Given the description of an element on the screen output the (x, y) to click on. 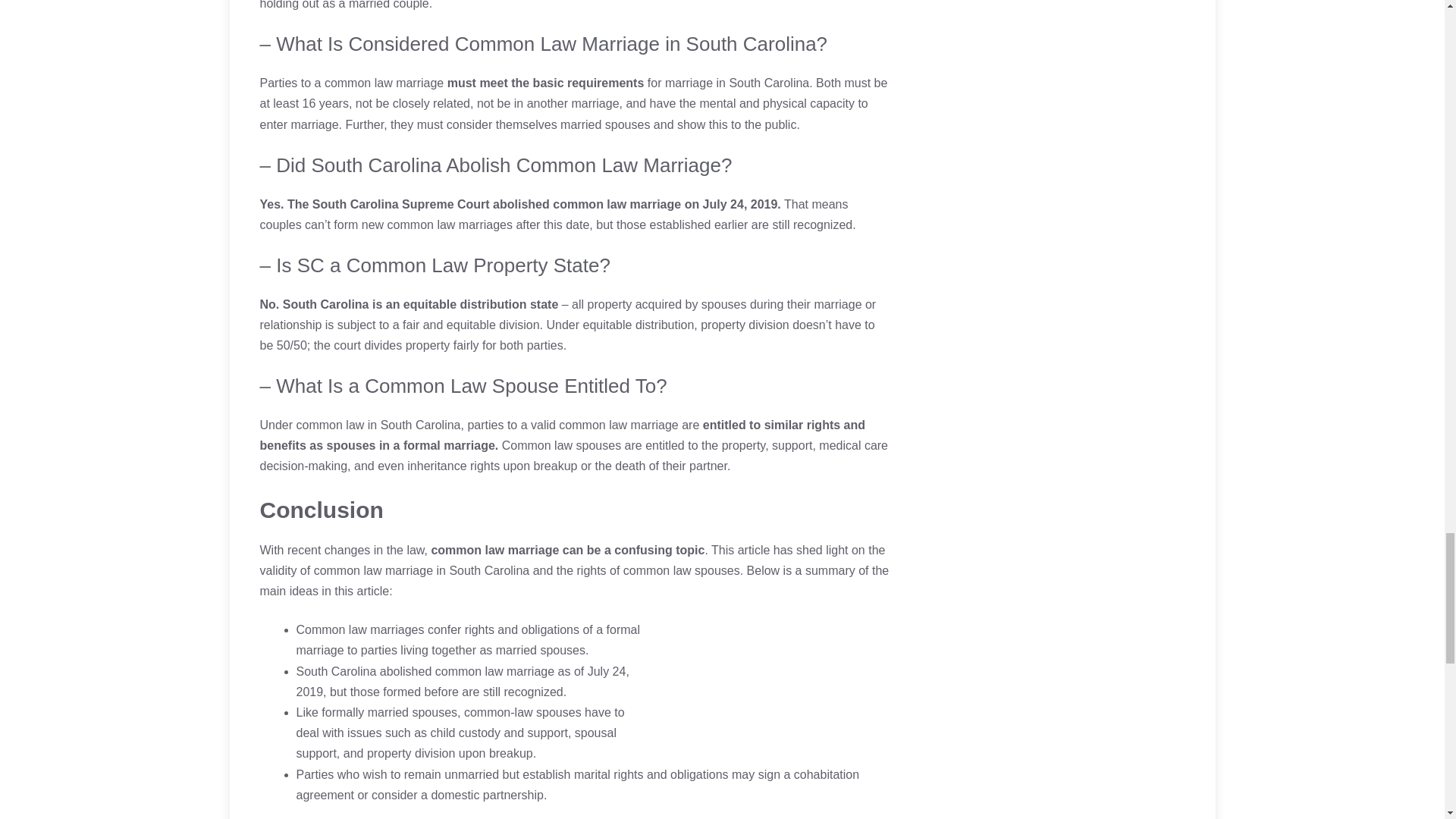
common law marriage (373, 570)
